Given the description of an element on the screen output the (x, y) to click on. 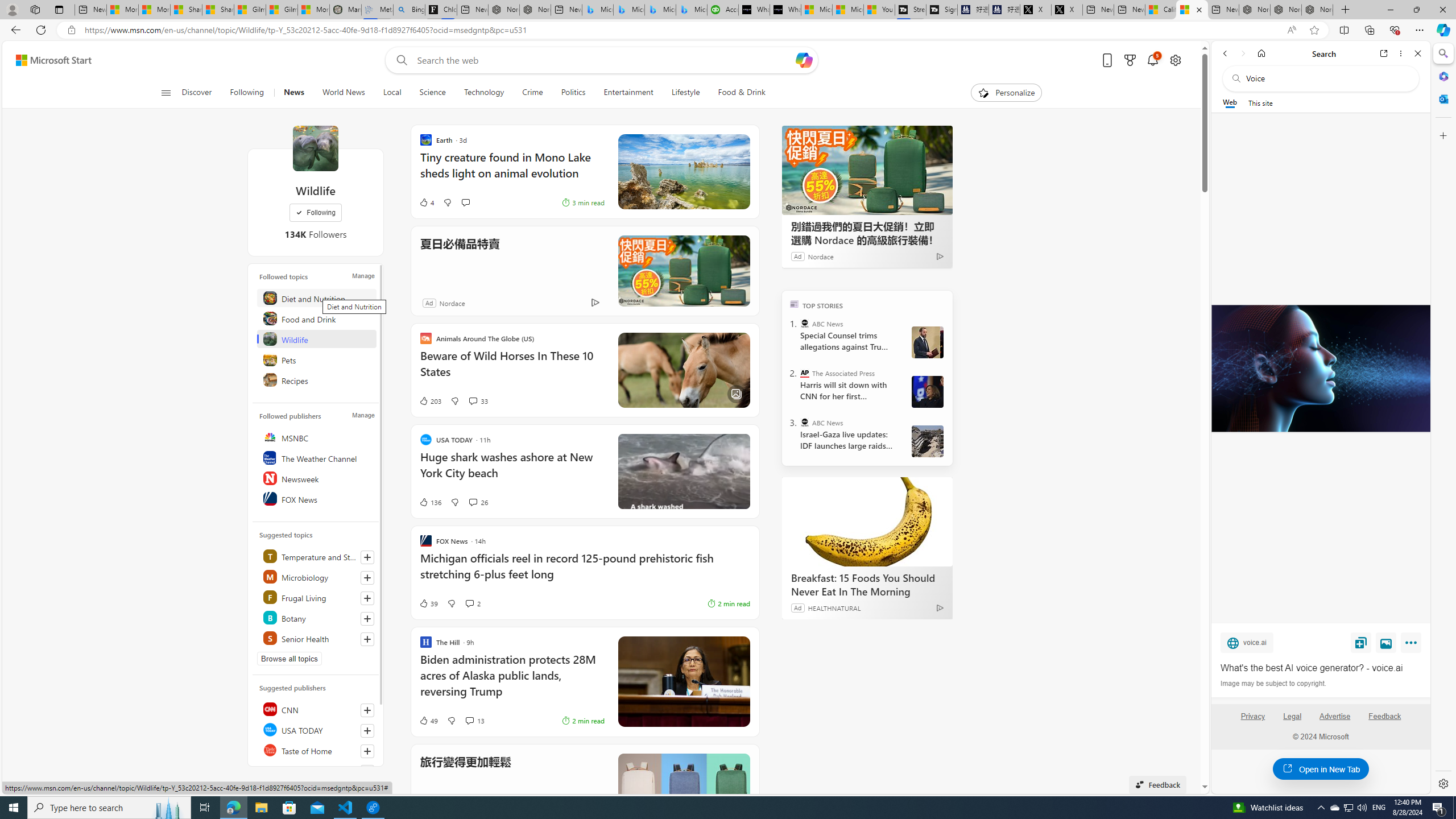
Nordace - Siena Pro 15 Essential Set (1317, 9)
Science (432, 92)
Skip to content (49, 59)
Huge shark washes ashore at New York City beach (511, 470)
Image may be subject to copyright. (1273, 682)
Microsoft Bing Travel - Shangri-La Hotel Bangkok (691, 9)
More (1413, 644)
View comments 2 Comment (469, 602)
Recipes (317, 380)
